Given the description of an element on the screen output the (x, y) to click on. 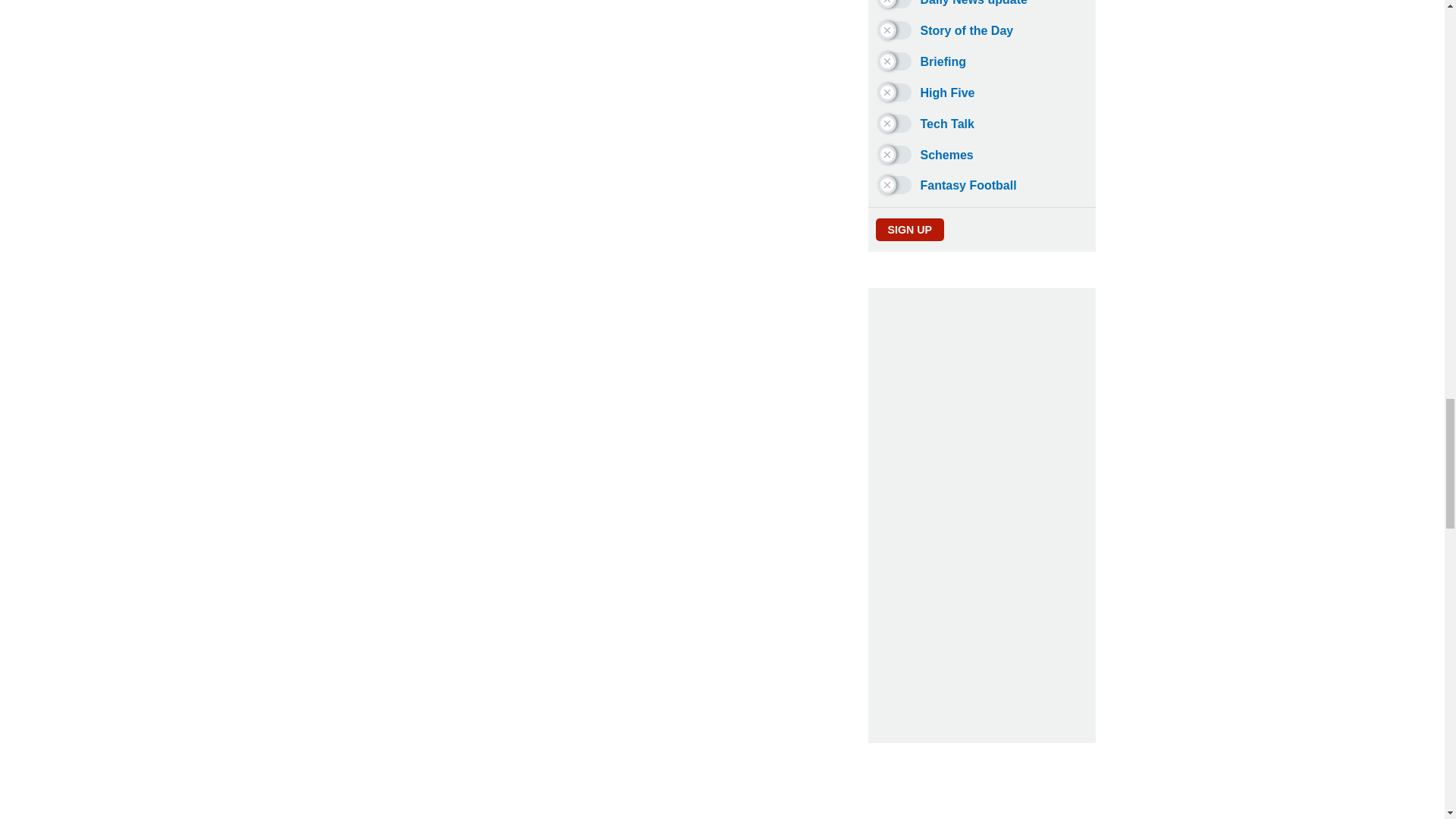
3rd party ad content (722, 803)
